Given the description of an element on the screen output the (x, y) to click on. 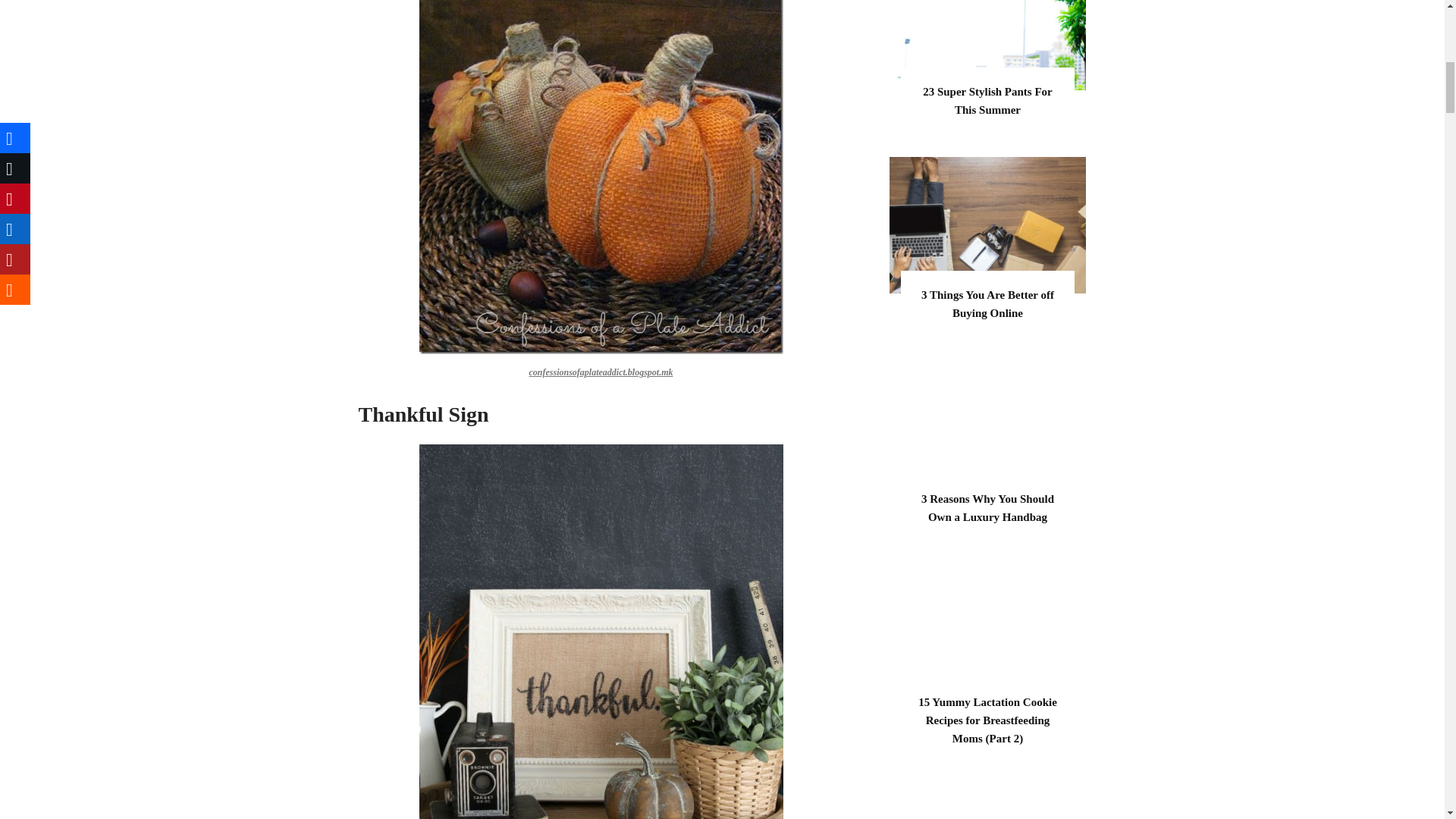
confessionsofaplateaddict.blogspot.mk (601, 176)
confessionsofaplateaddict.blogspot.mk (600, 372)
